Given the description of an element on the screen output the (x, y) to click on. 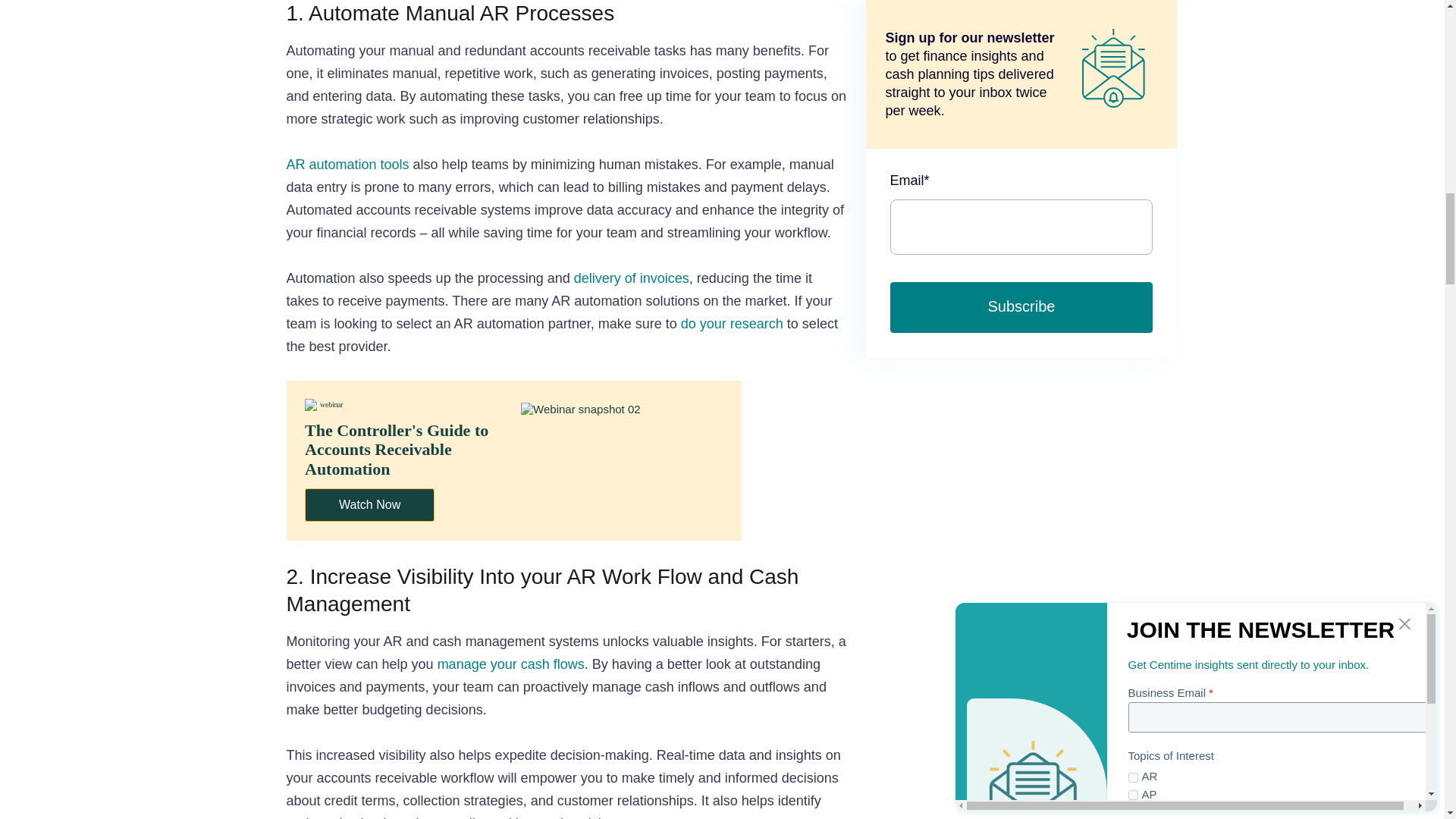
Embedded CTA (513, 460)
